Given the description of an element on the screen output the (x, y) to click on. 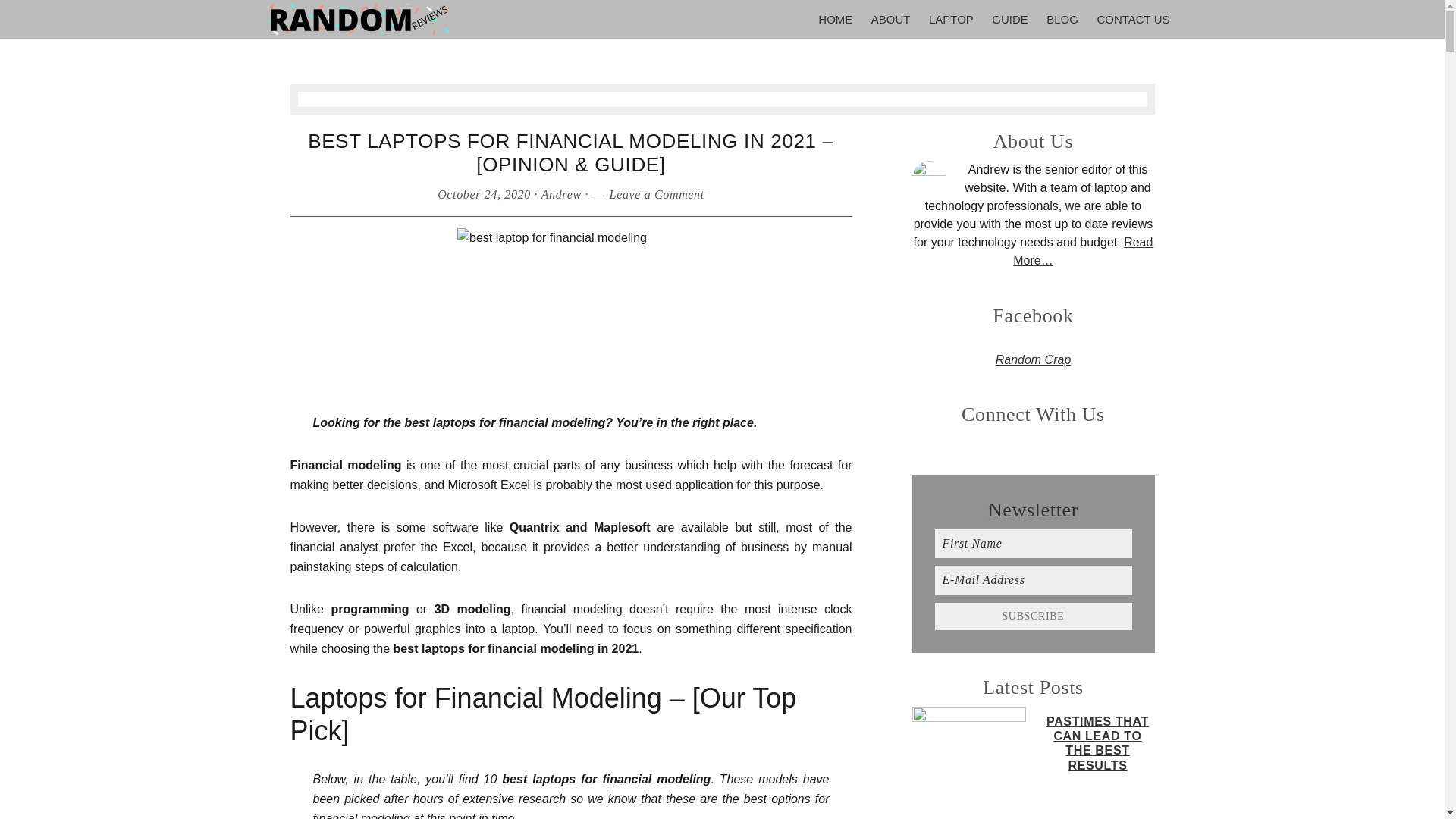
GUIDE (1009, 19)
Subscribe (1032, 615)
HOME (835, 19)
CONTACT US (1132, 19)
LAPTOP (951, 19)
ABOUT (890, 19)
BLOG (1062, 19)
